Given the description of an element on the screen output the (x, y) to click on. 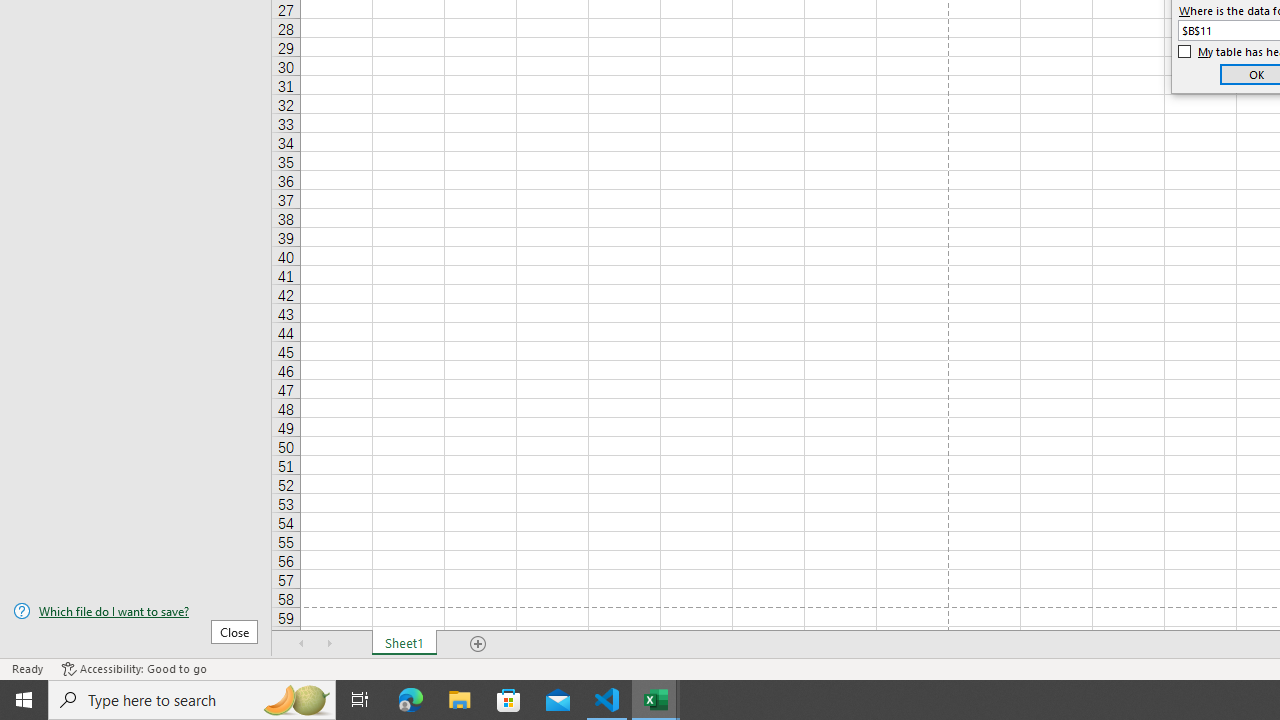
Accessibility Checker Accessibility: Good to go (134, 668)
Add Sheet (478, 644)
Scroll Right (330, 644)
Sheet1 (404, 644)
Close (234, 631)
Scroll Left (302, 644)
Which file do I want to save? (136, 611)
